Given the description of an element on the screen output the (x, y) to click on. 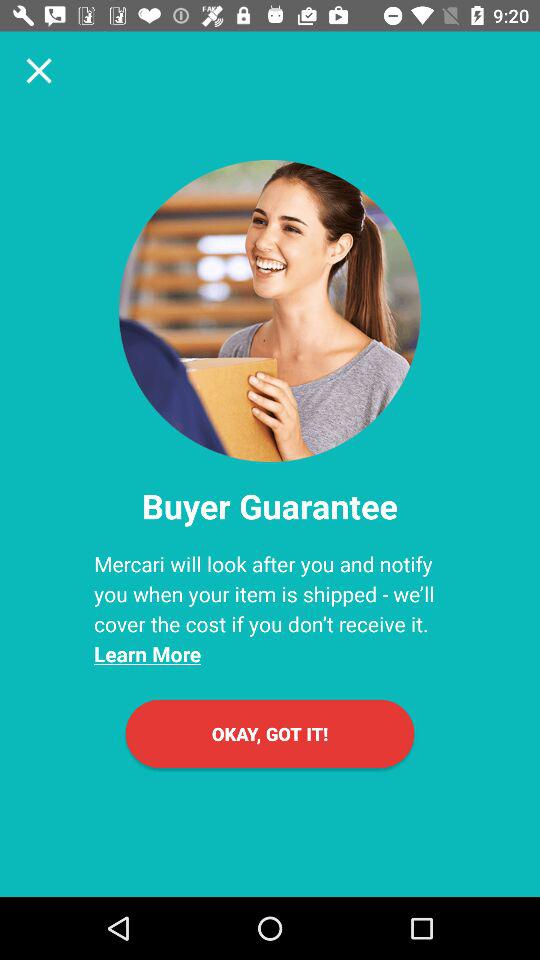
click okay, got it! (269, 733)
